Given the description of an element on the screen output the (x, y) to click on. 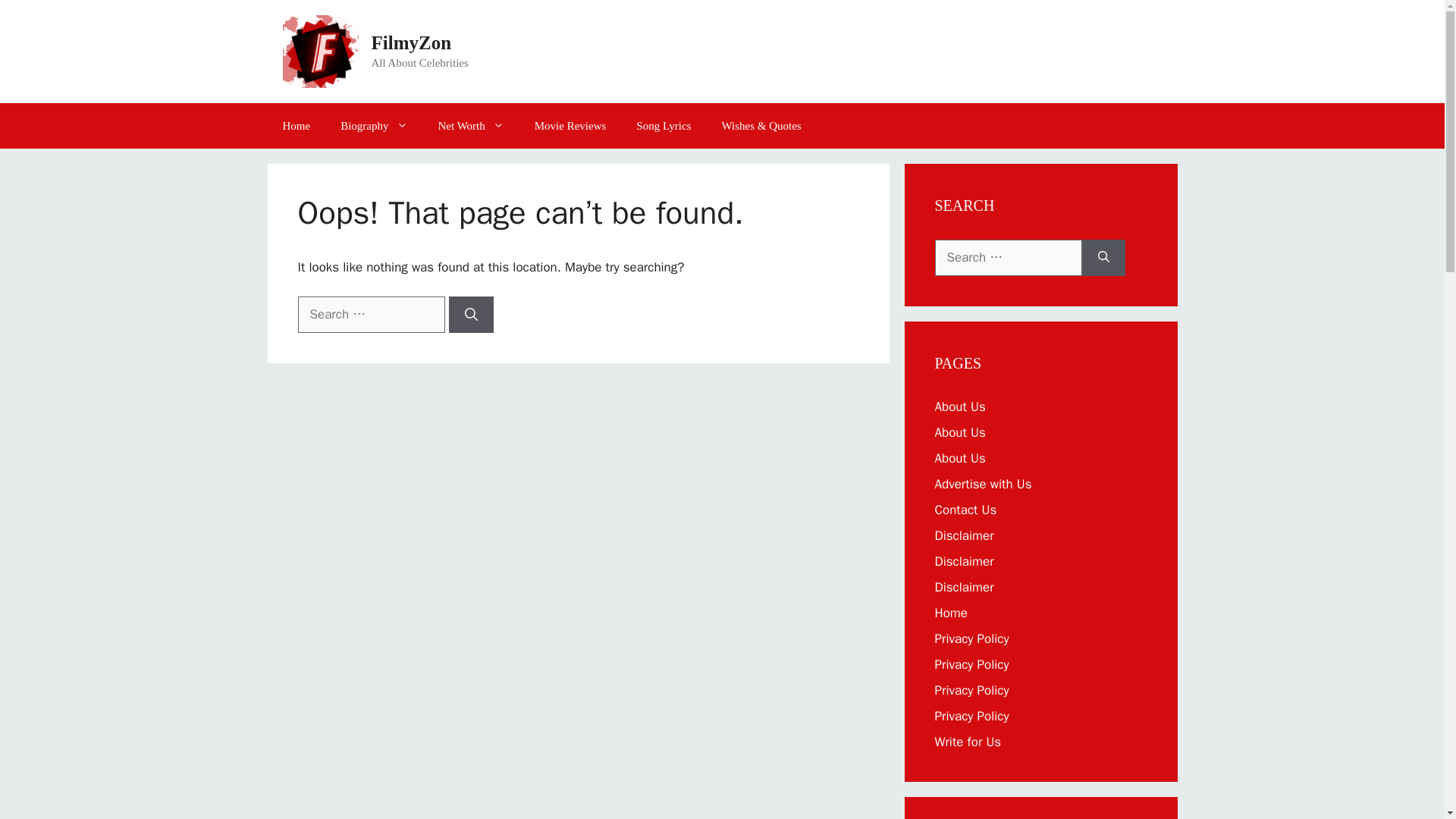
Disclaimer (963, 587)
Advertise with Us (982, 483)
Contact Us (964, 509)
About Us (959, 432)
Write for Us (967, 741)
Privacy Policy (971, 715)
Search for: (370, 314)
Movie Reviews (570, 125)
Search for: (1007, 257)
FilmyZon (411, 42)
